Given the description of an element on the screen output the (x, y) to click on. 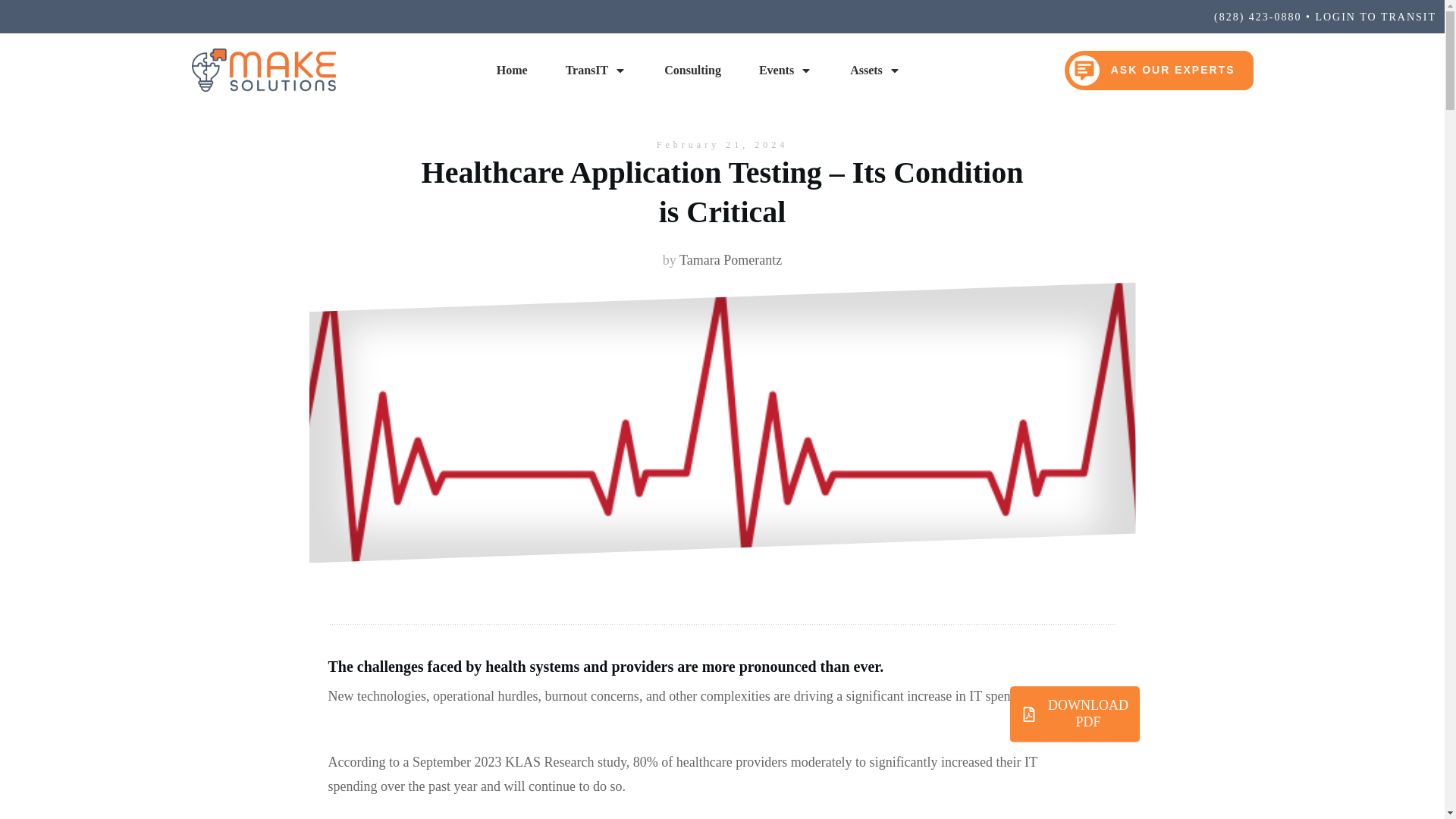
LOGIN TO TRANSIT (1374, 16)
Events (785, 70)
DOWNLOAD PDF (1075, 714)
Assets (875, 70)
Consulting (691, 70)
Home (511, 70)
TransIT (596, 70)
ASK OUR EXPERTS (1158, 70)
